Given the description of an element on the screen output the (x, y) to click on. 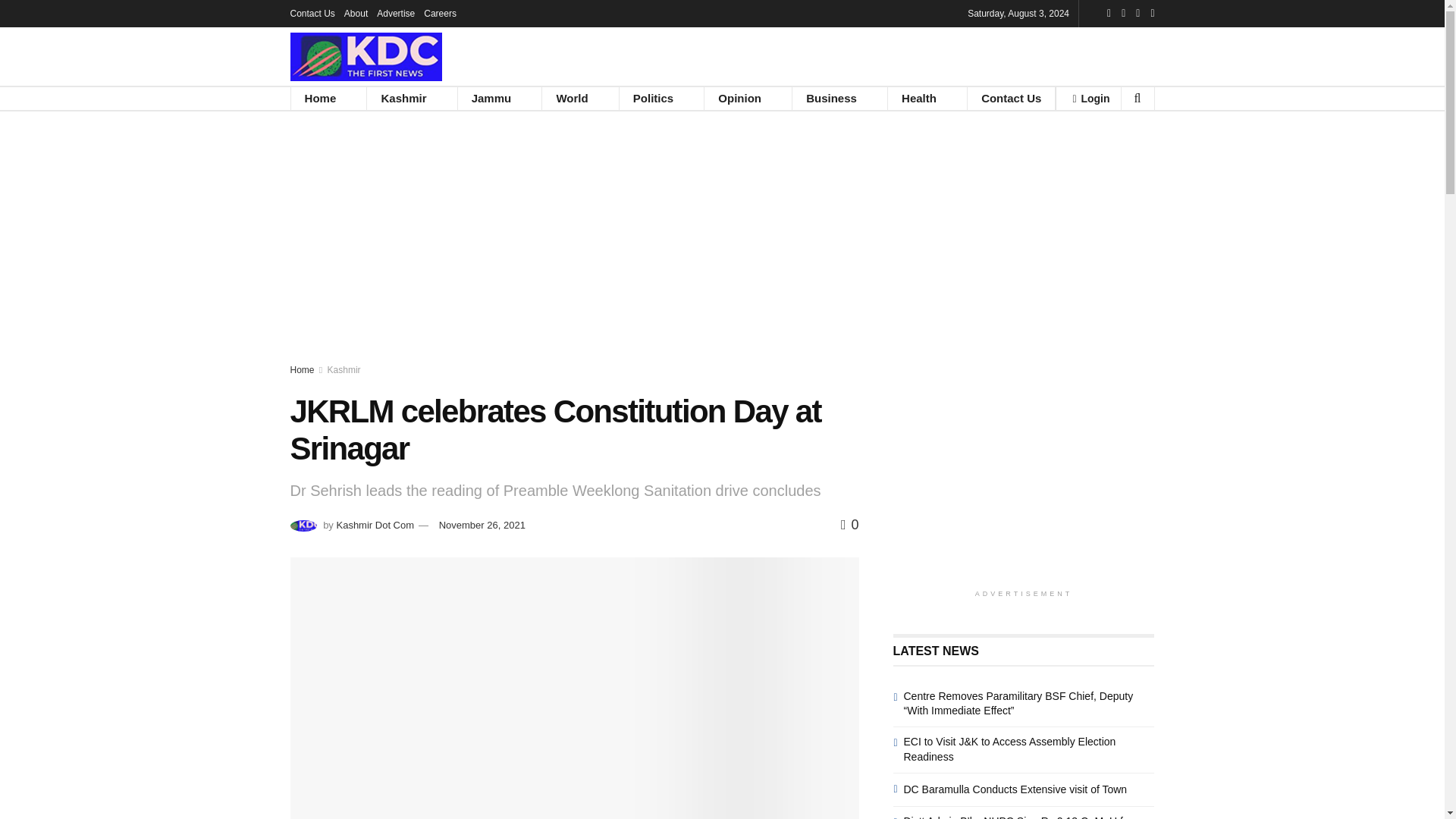
Opinion (739, 97)
Contact Us (311, 13)
Careers (440, 13)
Business (831, 97)
Login (1090, 97)
World (571, 97)
Advertise (395, 13)
November 26, 2021 (482, 524)
Kashmir (344, 369)
Advertisement (1023, 475)
Jammu (491, 97)
Politics (653, 97)
Home (320, 97)
Health (919, 97)
